Given the description of an element on the screen output the (x, y) to click on. 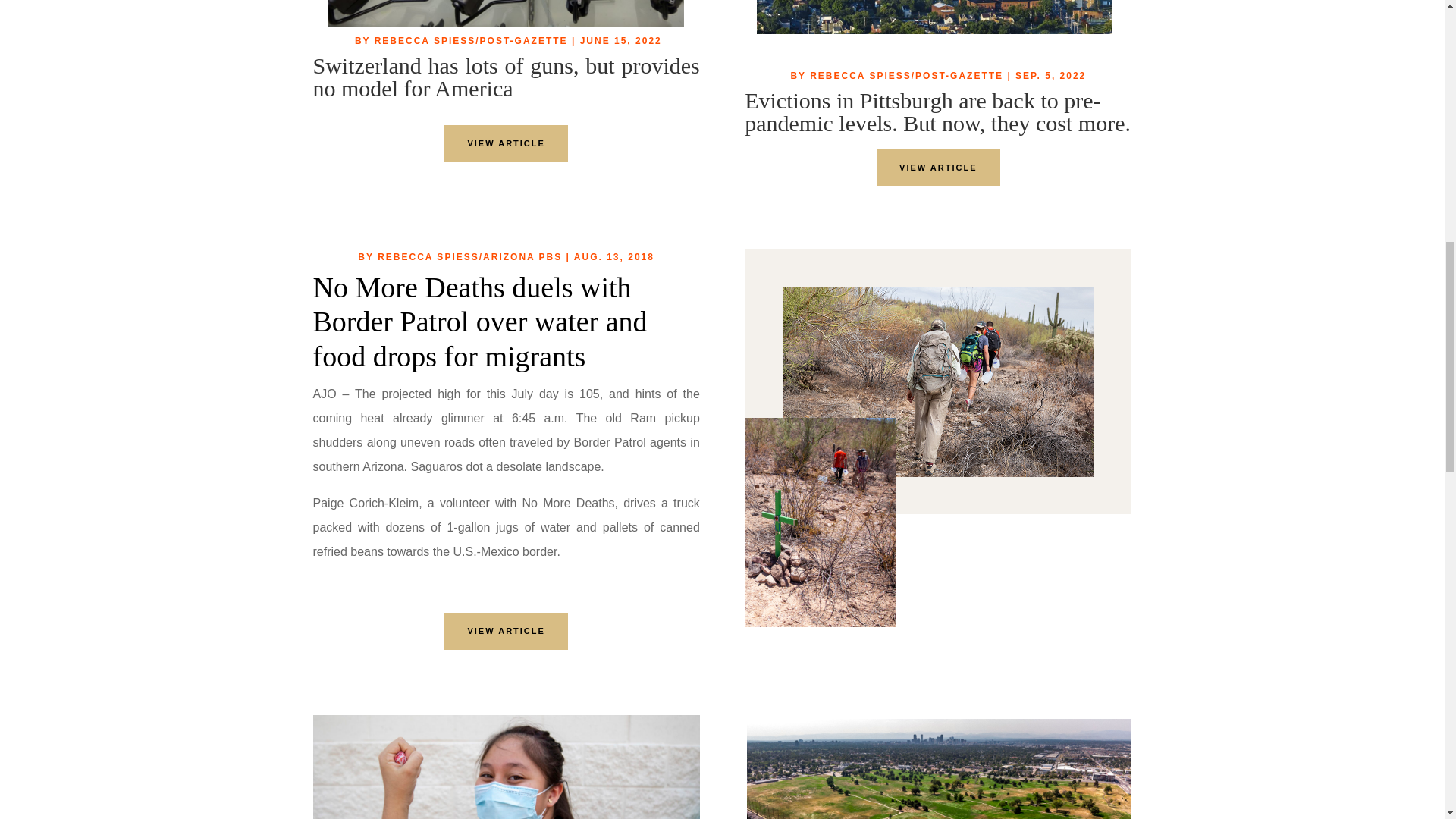
No More Deaths (938, 381)
Screen Shot 2022-09-05 at 3.01.38 PM (934, 17)
Screen Shot 2022-09-05 at 3.09.38 PM (506, 13)
VIEW ARTICLE (937, 167)
Screen Shot 2021-08-01 at 2.47.44 PM (505, 766)
VIEW ARTICLE (505, 631)
golf course (938, 769)
VIEW ARTICLE (505, 143)
